Given the description of an element on the screen output the (x, y) to click on. 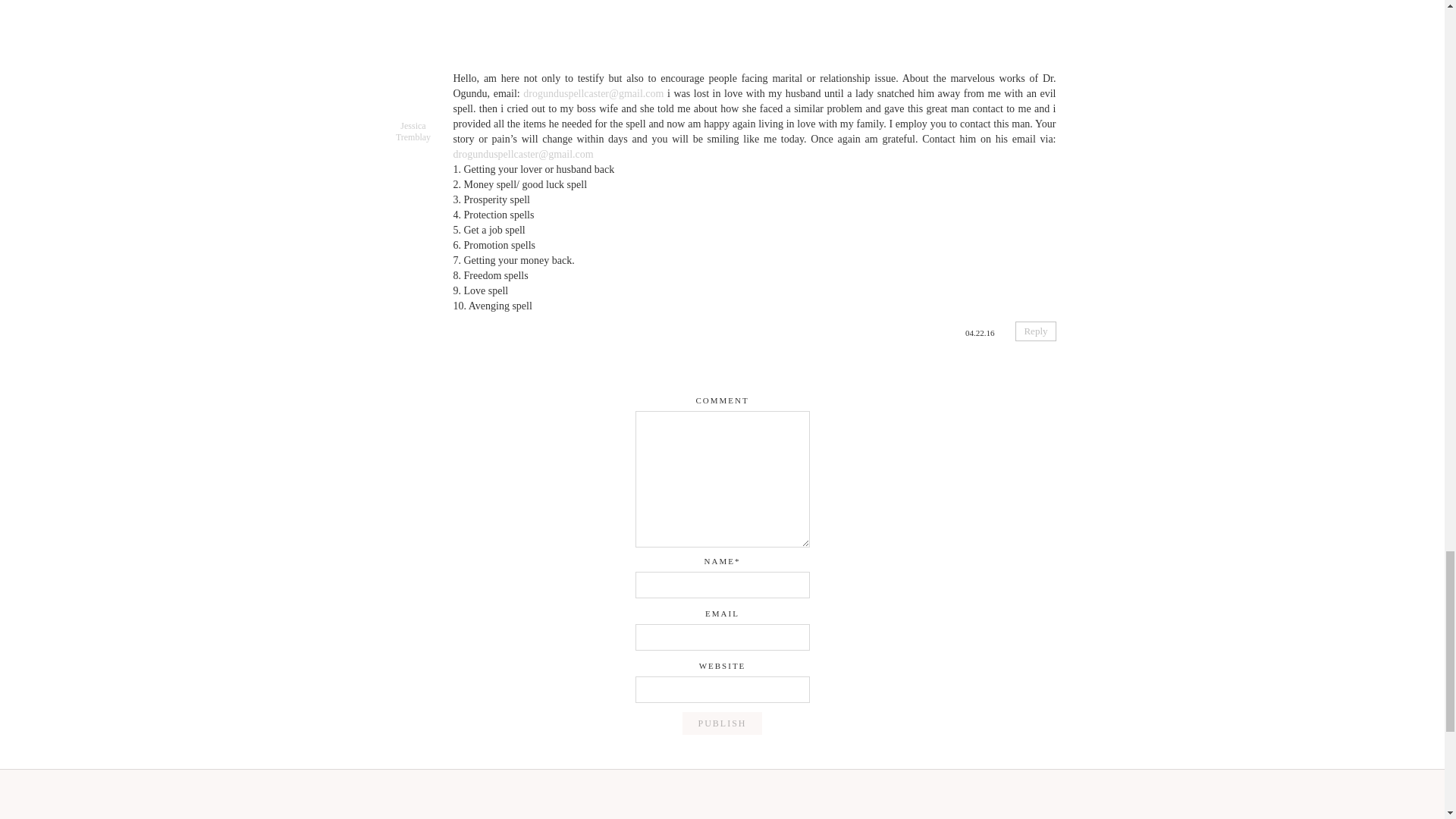
Publish (721, 722)
